Given the description of an element on the screen output the (x, y) to click on. 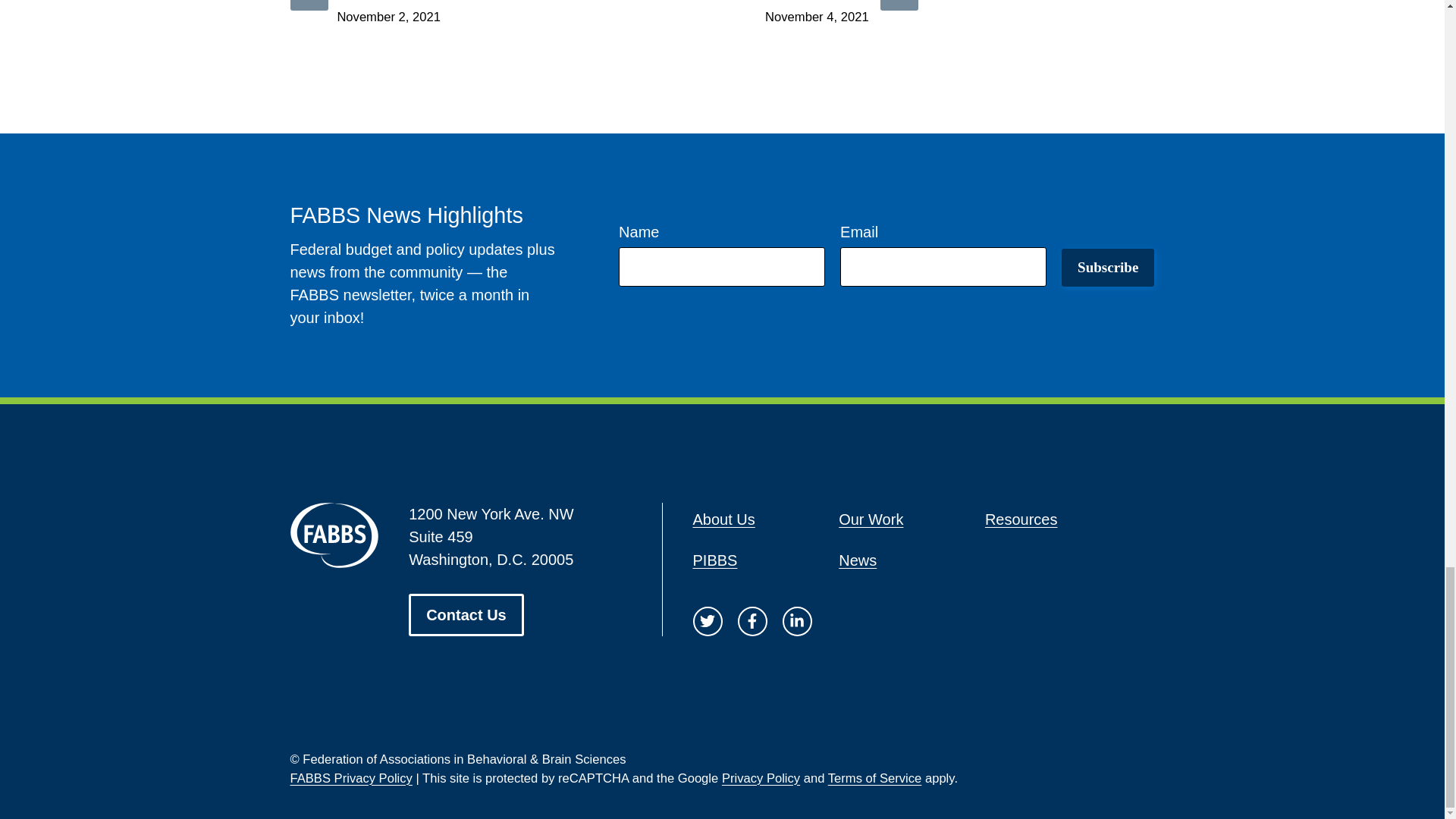
Subscribe (1107, 267)
Go to homepage (333, 535)
